Given the description of an element on the screen output the (x, y) to click on. 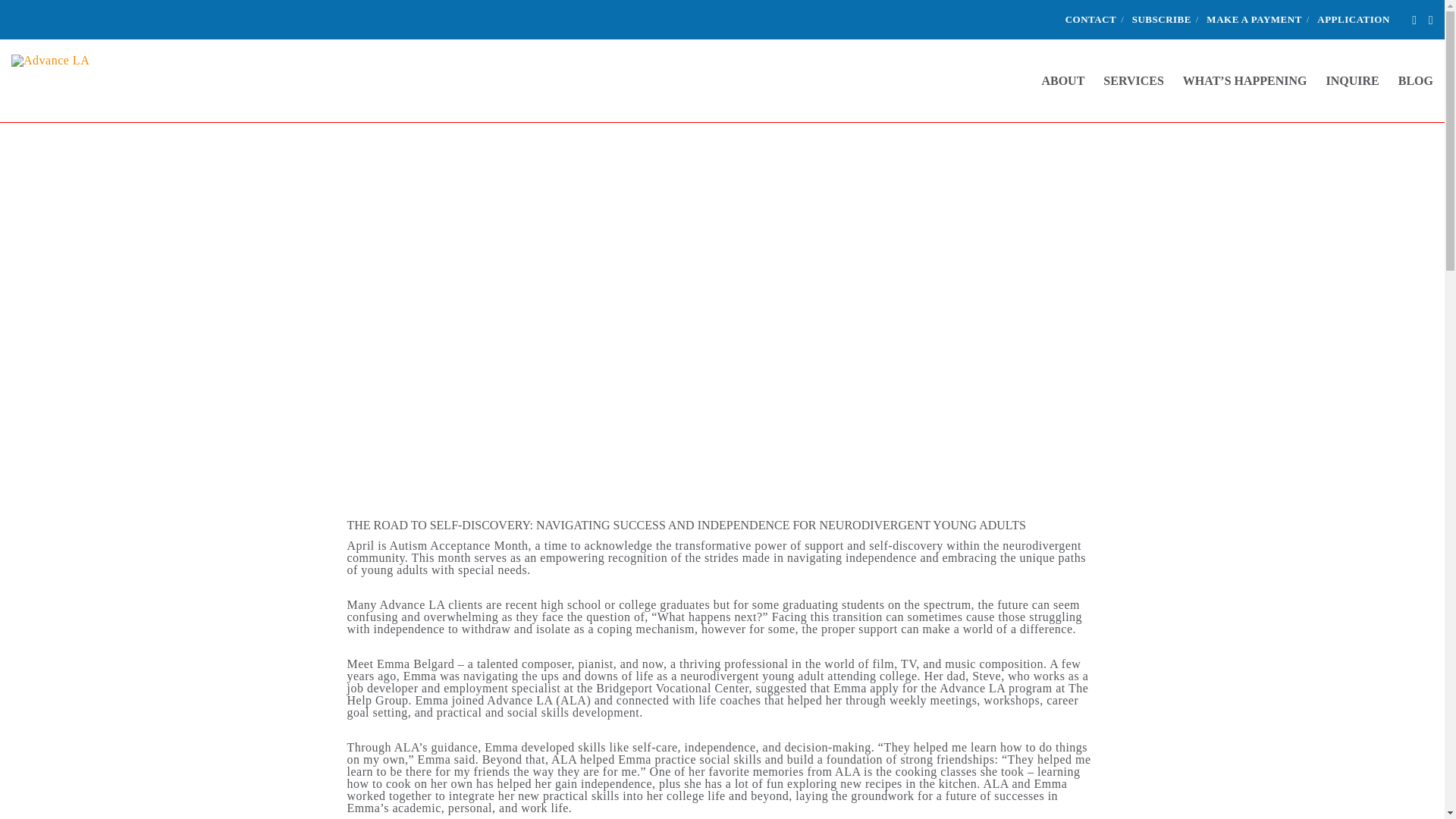
SERVICES (1123, 80)
ABOUT (1053, 80)
APPLICATION (1353, 19)
MAKE A PAYMENT (1254, 19)
Facebook (1414, 20)
CONTACT (1090, 19)
SUBSCRIBE (1161, 19)
INQUIRE (1342, 80)
BLOG (1405, 80)
Instagram (1430, 20)
